Given the description of an element on the screen output the (x, y) to click on. 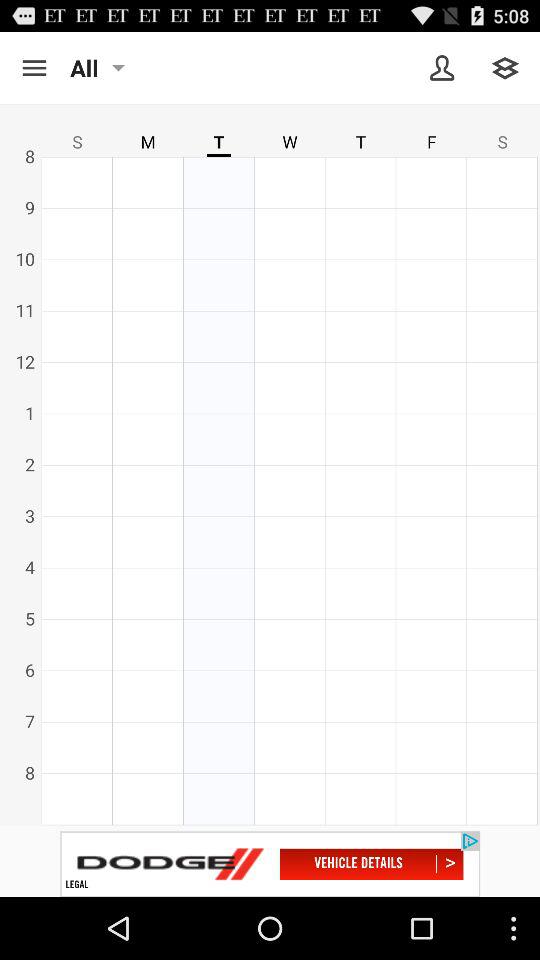
advertisement banner (270, 864)
